Given the description of an element on the screen output the (x, y) to click on. 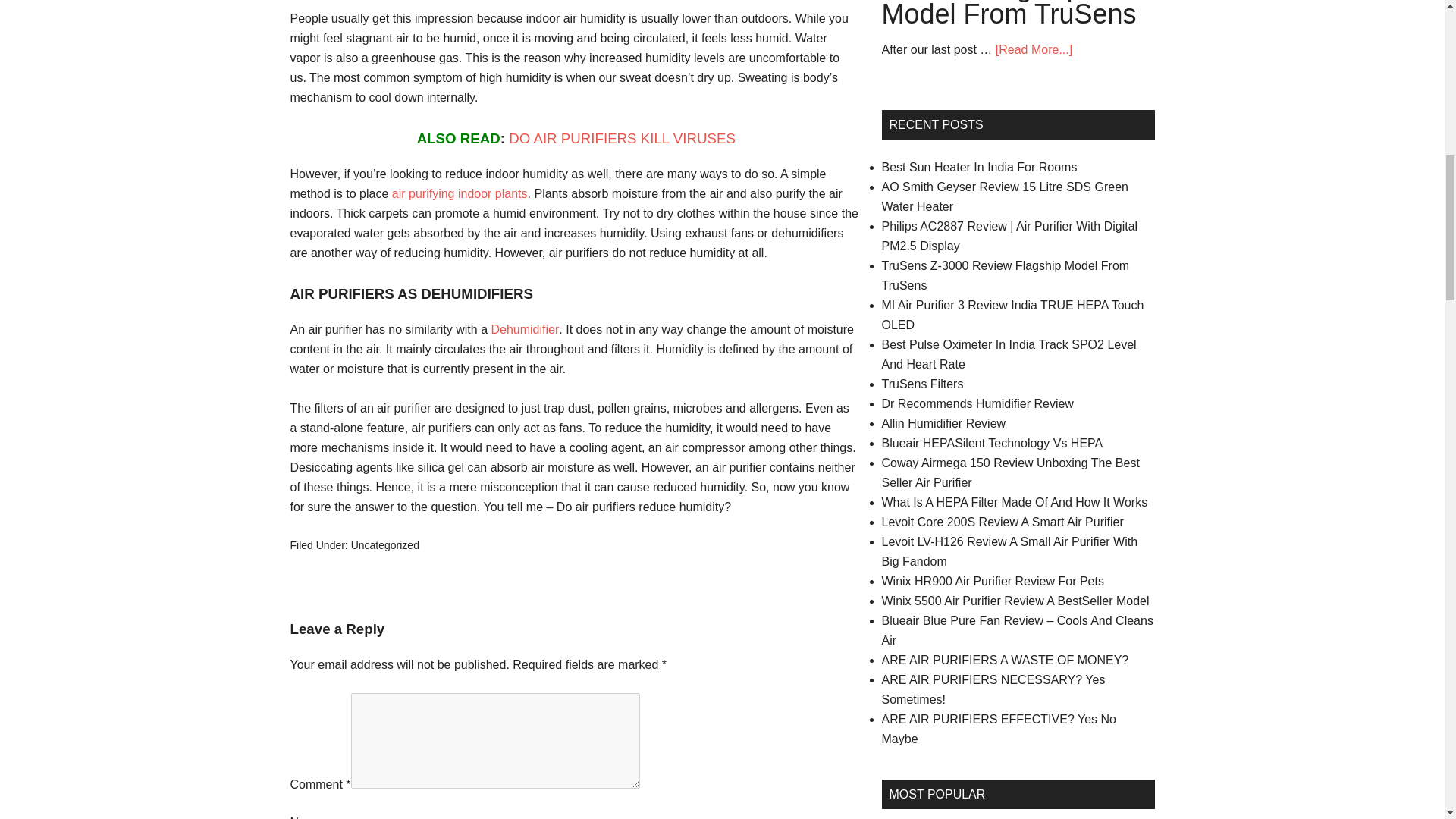
AO Smith Geyser Review 15 Litre SDS Green Water Heater (1003, 196)
Best Pulse Oximeter In India Track SPO2 Level And Heart Rate (1007, 354)
DO AIR PURIFIERS KILL VIRUSES (621, 138)
Dehumidifier (524, 328)
TruSens Filters (921, 383)
TruSens Z-3000 Review Flagship Model From TruSens (1004, 275)
TruSens Z-3000 Review Flagship Model From TruSens (1007, 14)
air purifying indoor plants (459, 193)
Uncategorized (384, 544)
MI Air Purifier 3 Review India TRUE HEPA Touch OLED (1011, 314)
